Given the description of an element on the screen output the (x, y) to click on. 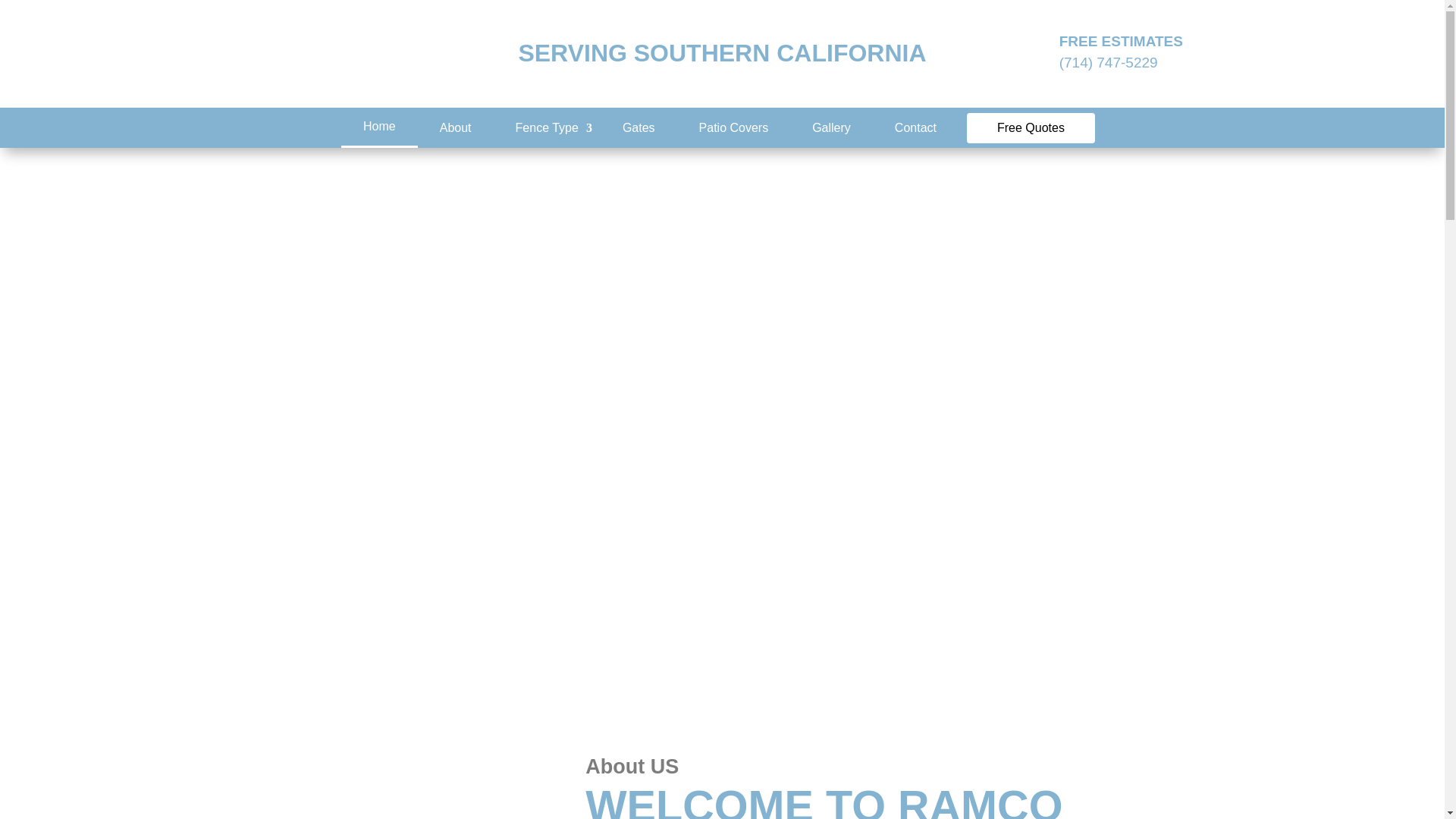
Gates (638, 127)
Patio Covers (734, 127)
Ramco Construction (313, 54)
About US (398, 775)
Home (379, 126)
About (455, 127)
Gallery (830, 127)
Free Quotes (1030, 127)
Contact (915, 127)
Fence Type (547, 127)
